Given the description of an element on the screen output the (x, y) to click on. 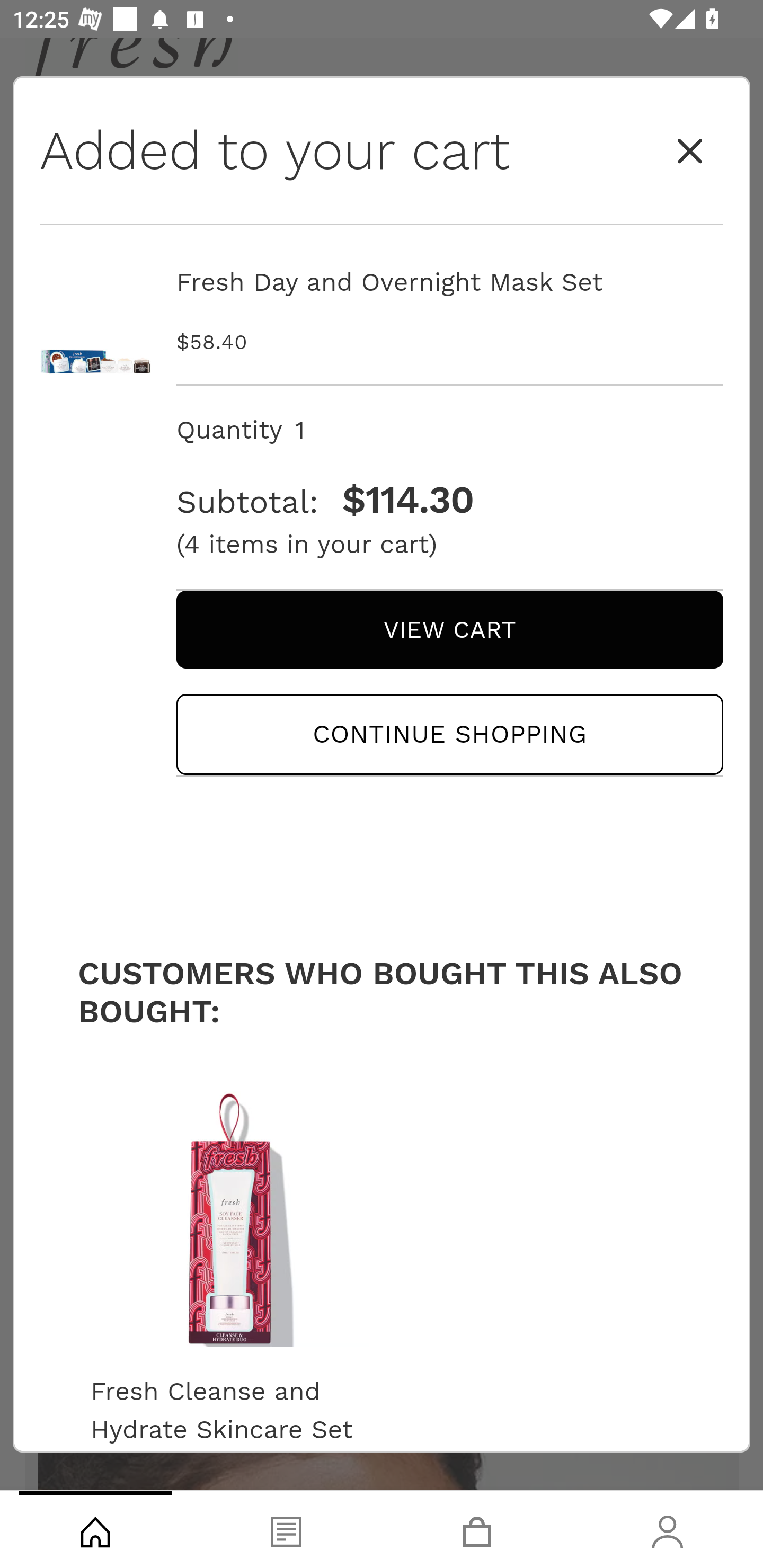
Close (689, 151)
Fresh Day and Overnight Mask Set (95, 320)
Fresh Day and Overnight Mask Set (449, 281)
VIEW CART (449, 629)
CONTINUE SHOPPING (449, 734)
Fresh Cleanse and Hydrate Skincare Set (229, 1405)
Shop, tab, 1 of 4 (95, 1529)
Blog, tab, 2 of 4 (285, 1529)
Basket, tab, 3 of 4 (476, 1529)
Account, tab, 4 of 4 (667, 1529)
